Given the description of an element on the screen output the (x, y) to click on. 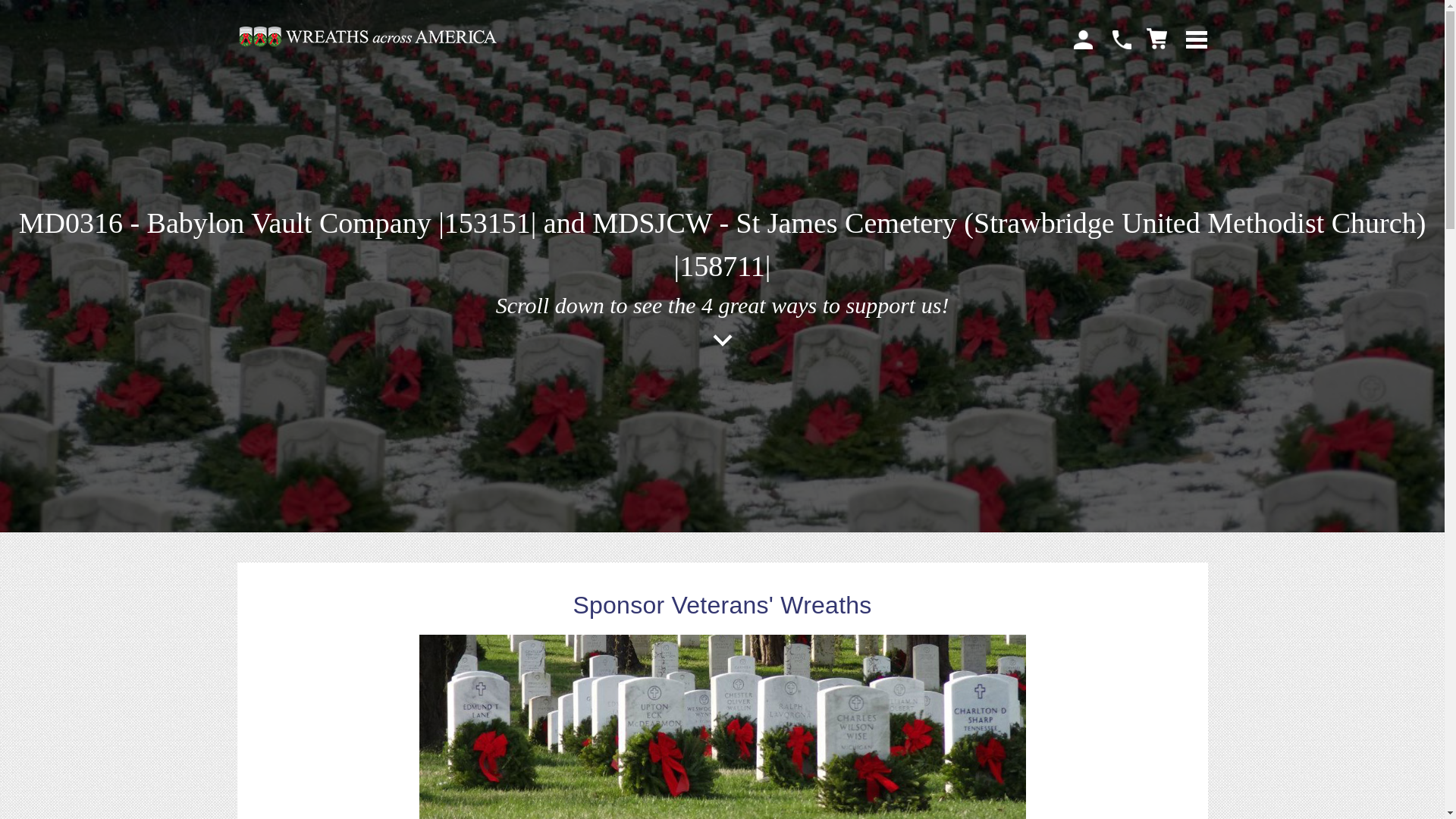
Wreaths Across America (367, 36)
Toggle Menu (1196, 33)
Account (1083, 39)
Sponsor Rememberance Wreaths (722, 726)
Contact Us (1121, 39)
